Given the description of an element on the screen output the (x, y) to click on. 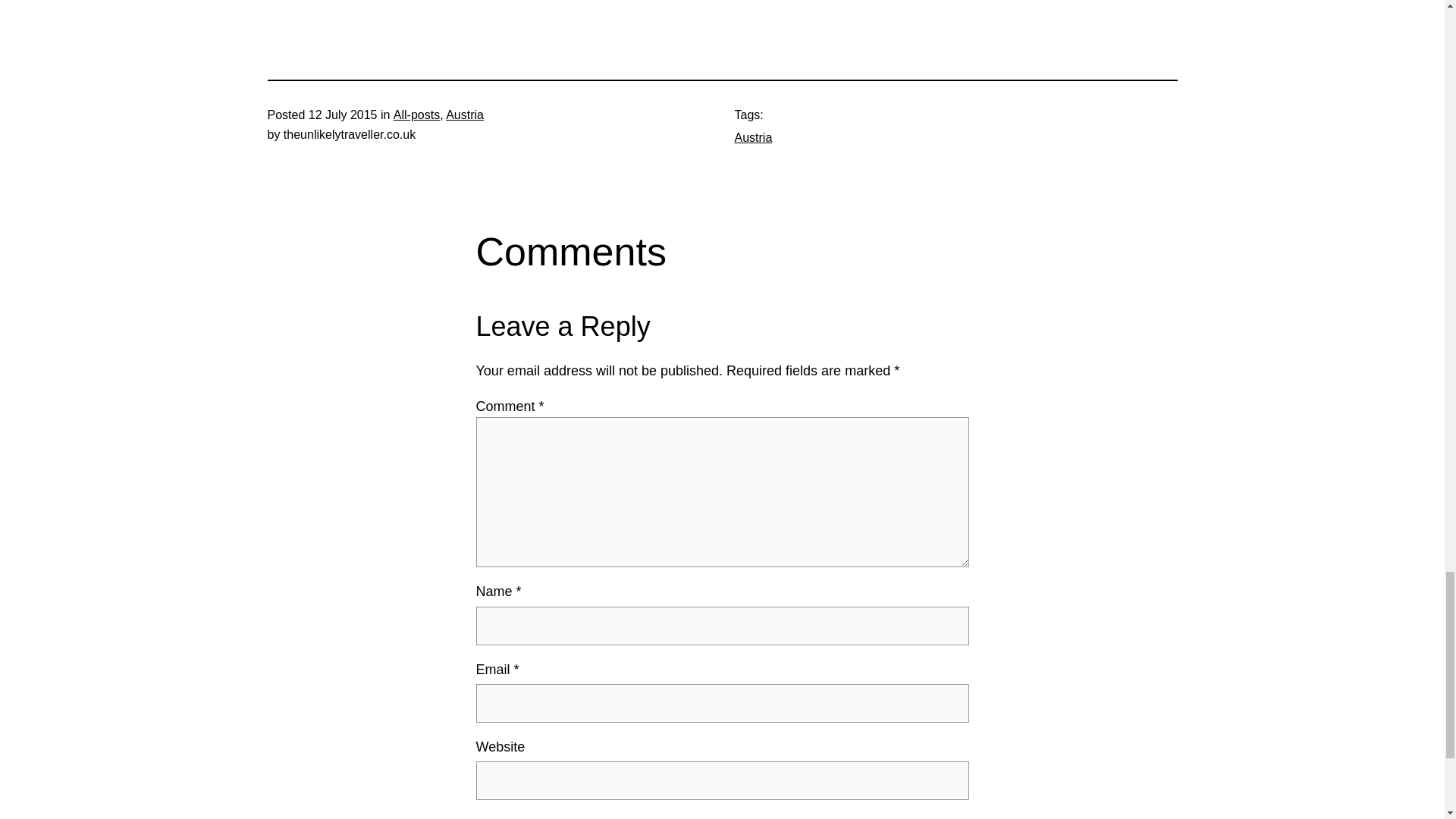
All-posts (416, 114)
Austria (752, 137)
Austria (464, 114)
